Given the description of an element on the screen output the (x, y) to click on. 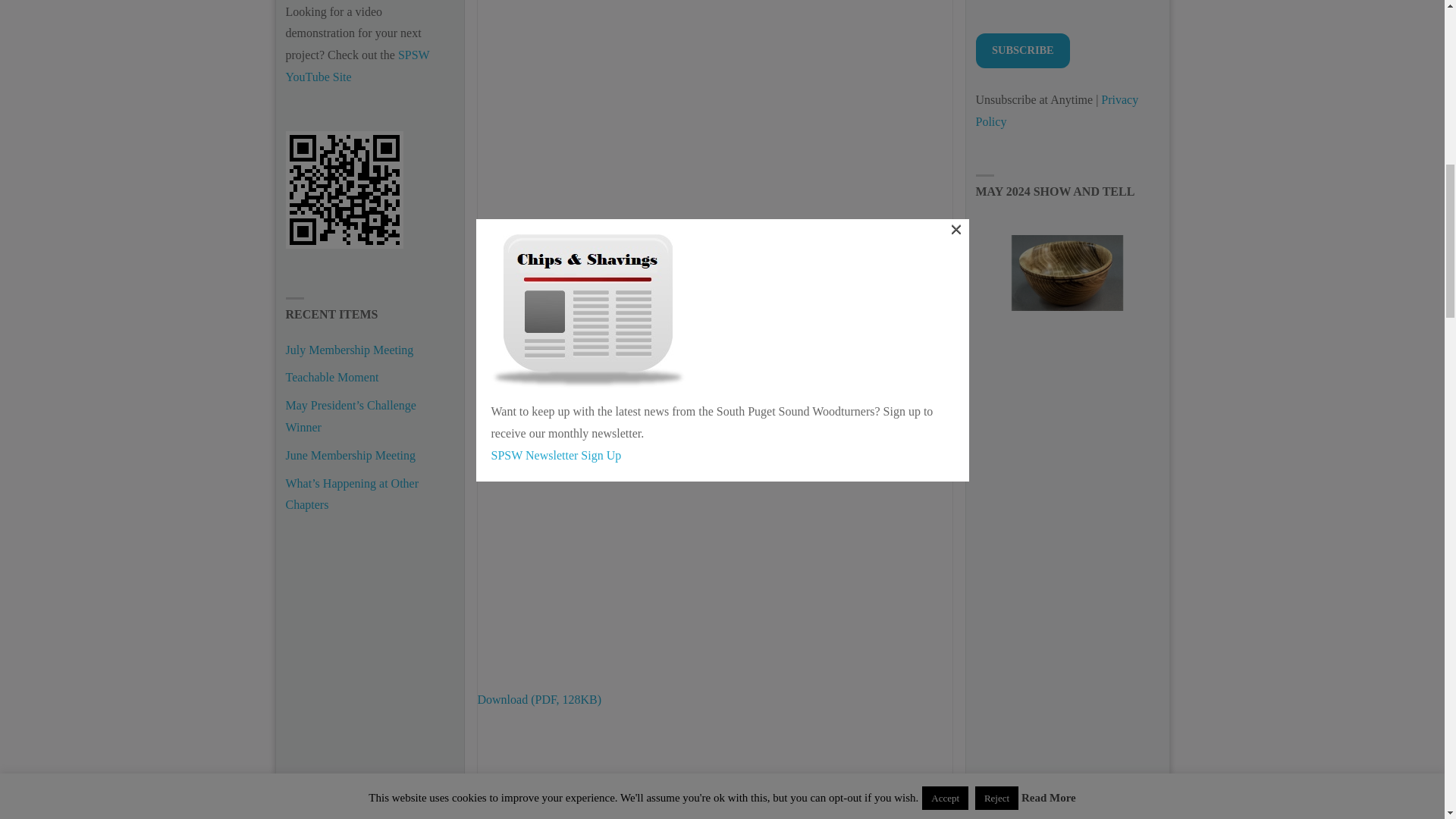
Subscribe (1022, 50)
